Given the description of an element on the screen output the (x, y) to click on. 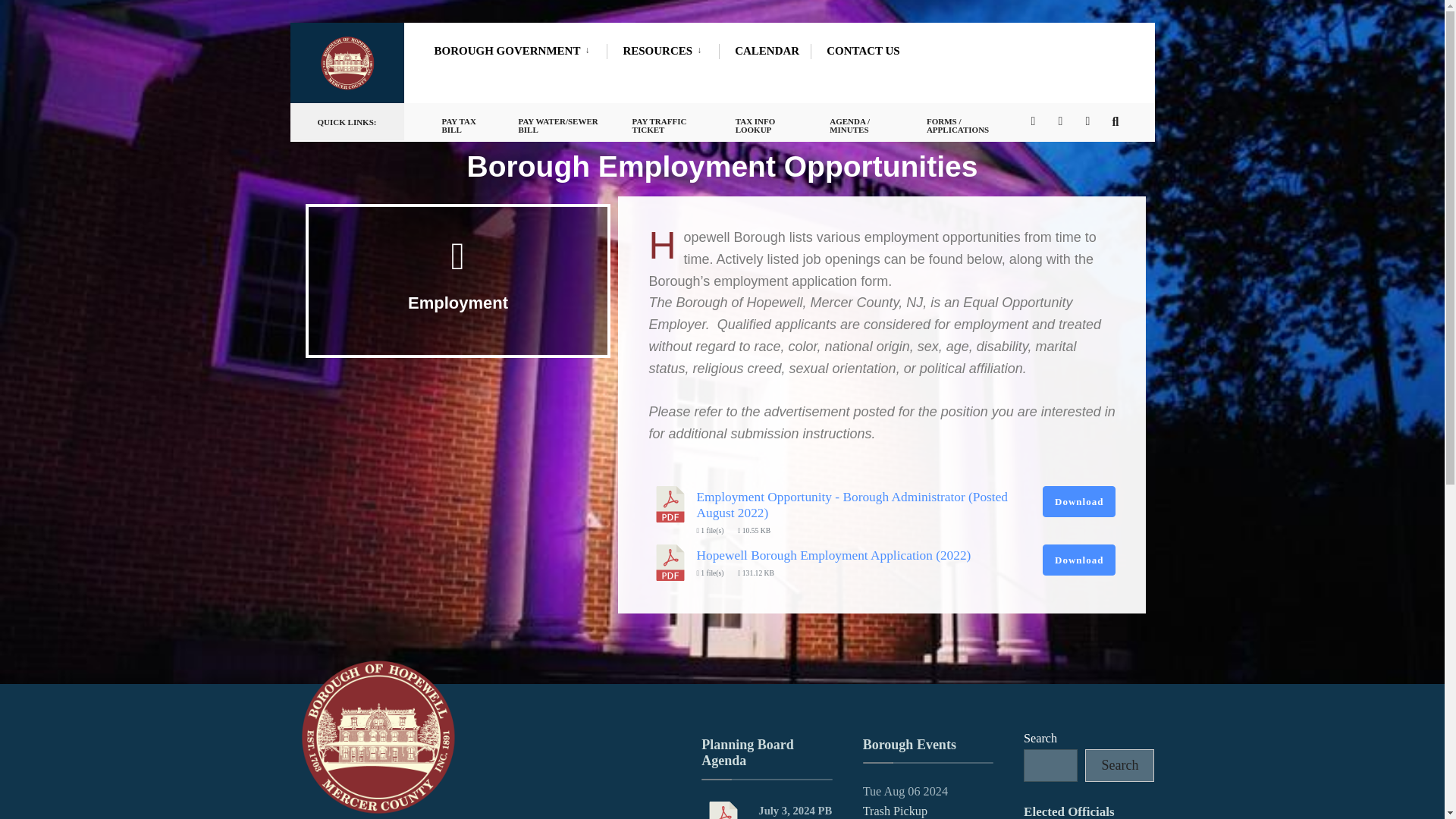
RESOURCES (665, 50)
BOROUGH GOVERNMENT (514, 50)
